Given the description of an element on the screen output the (x, y) to click on. 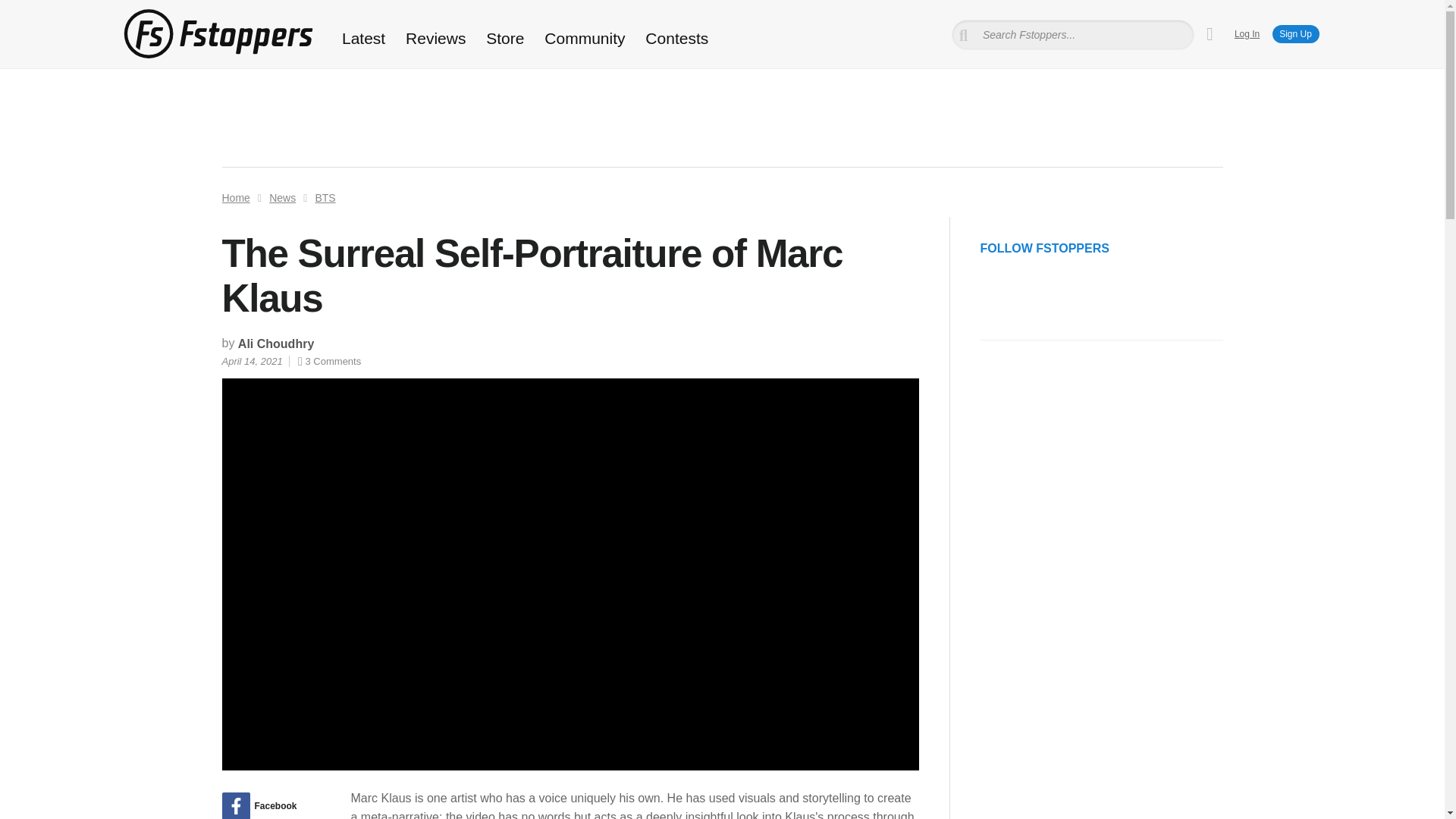
Log In (1246, 33)
Ali Choudhry (276, 344)
My Cart (1209, 34)
Reviews (435, 37)
Community (585, 37)
3 Comments (329, 360)
Share on Facebook (270, 805)
Fstoppers (217, 33)
News (282, 197)
Sign Up (1295, 34)
Home (234, 197)
Contests (676, 37)
Search (32, 11)
BTS (324, 197)
